Given the description of an element on the screen output the (x, y) to click on. 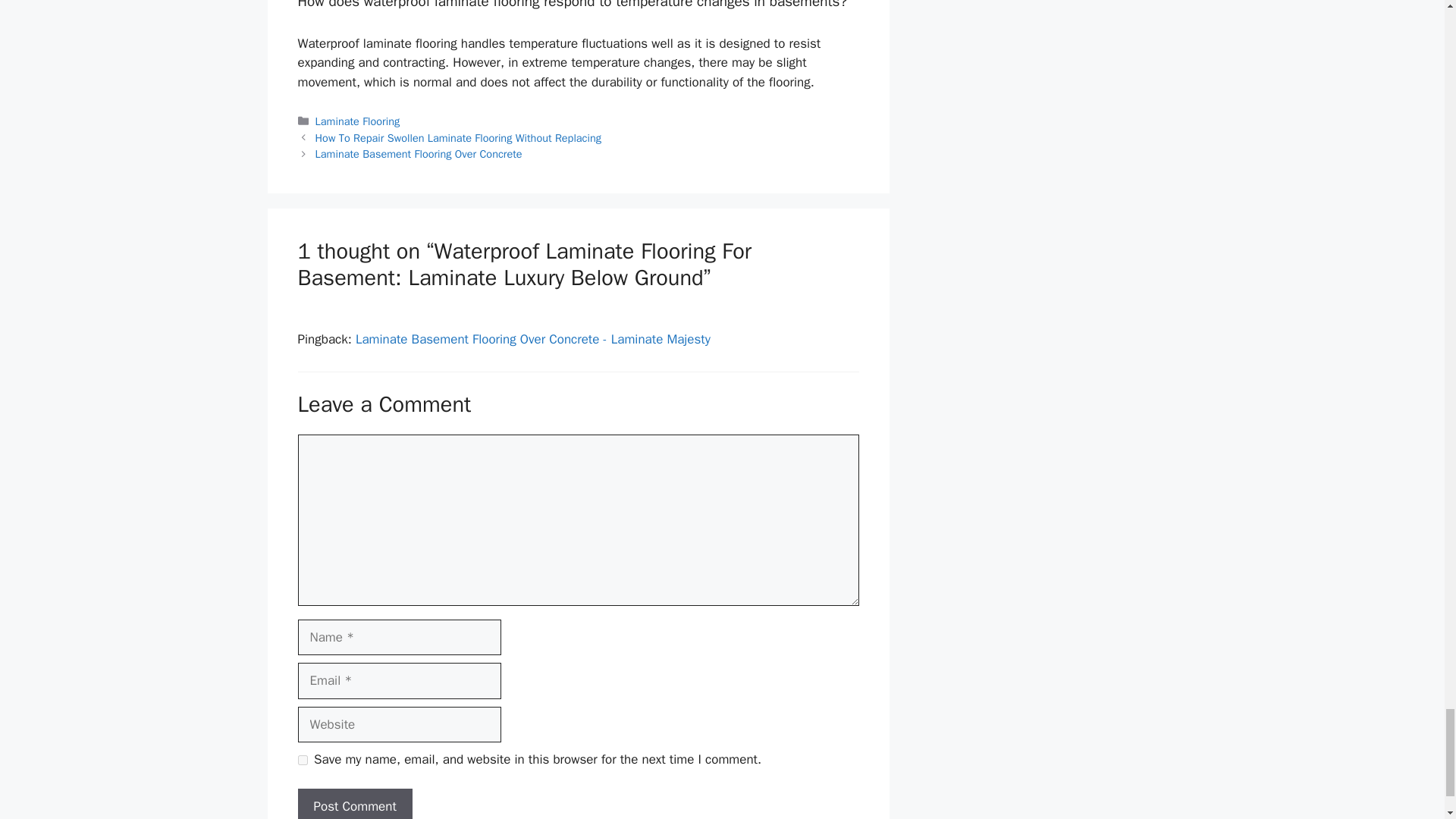
Post Comment (354, 803)
How To Repair Swollen Laminate Flooring Without Replacing (458, 137)
yes (302, 759)
Laminate Flooring (357, 120)
Laminate Basement Flooring Over Concrete (418, 153)
Laminate Basement Flooring Over Concrete - Laminate Majesty (532, 339)
Post Comment (354, 803)
